Given the description of an element on the screen output the (x, y) to click on. 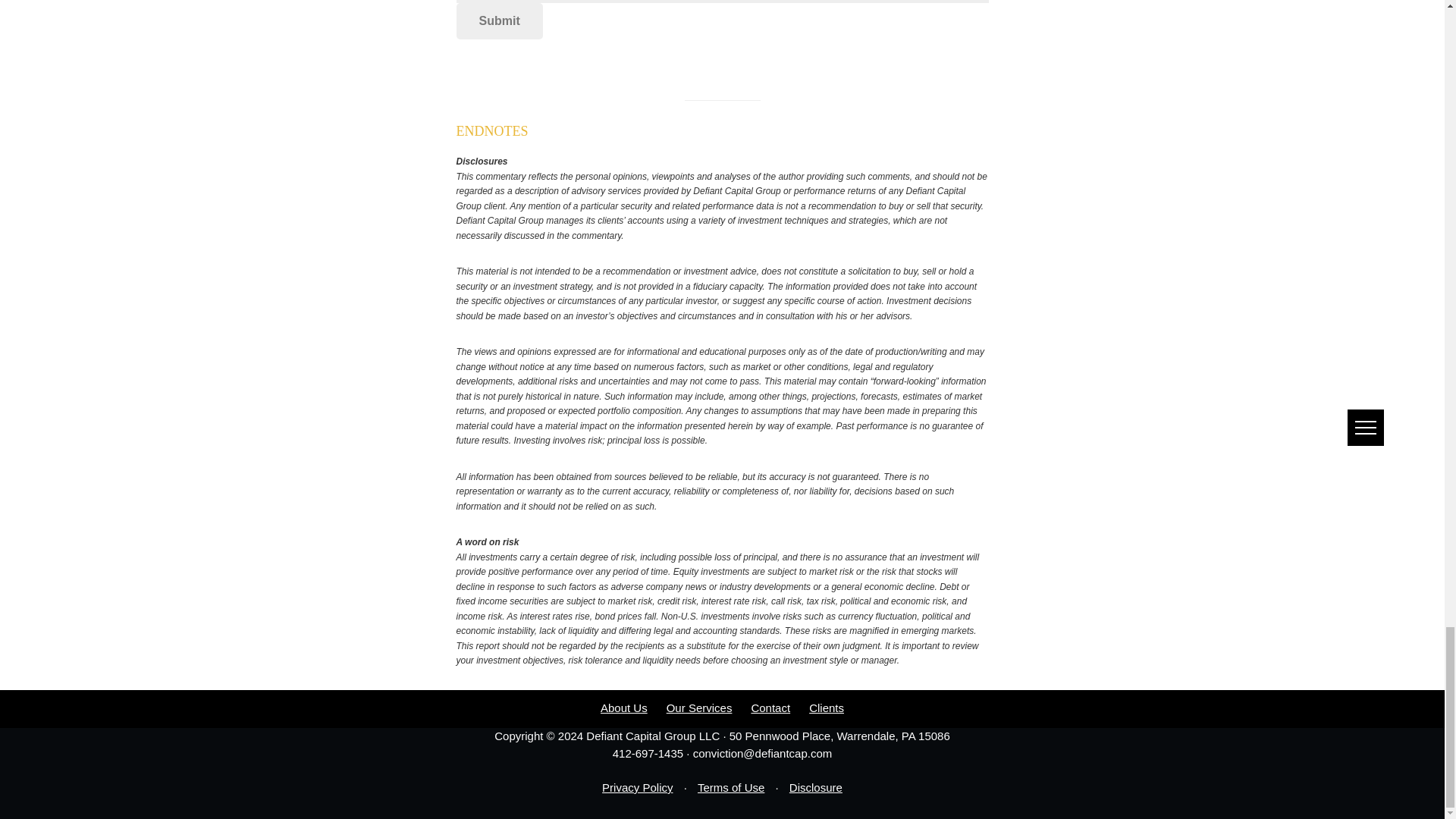
Contact (770, 714)
Privacy Policy (637, 793)
Our Services (699, 714)
Submit (500, 21)
Clients (826, 714)
About Us (623, 714)
Disclosure (816, 793)
Terms of Use (730, 793)
